Given the description of an element on the screen output the (x, y) to click on. 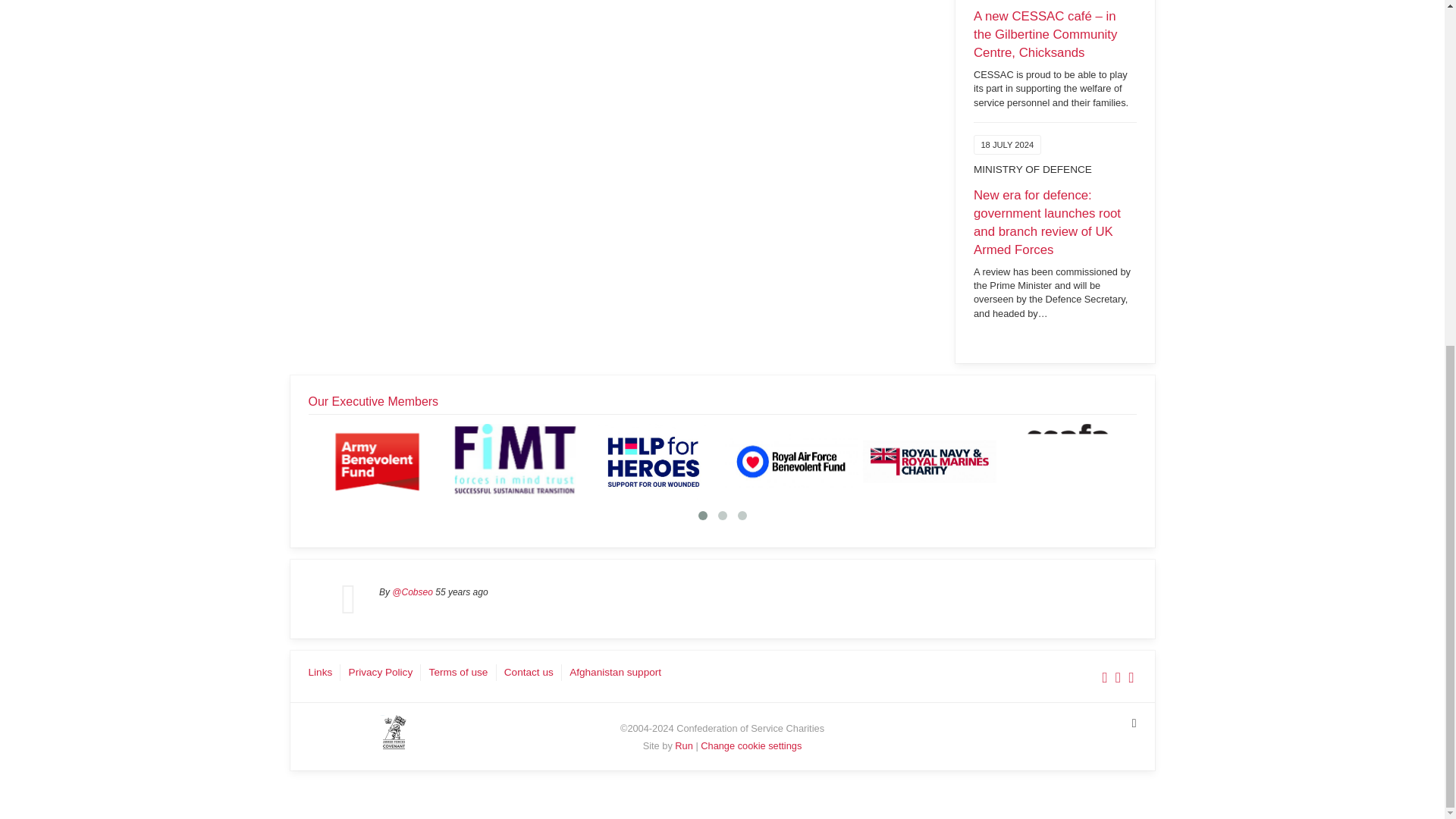
SSAFA (1067, 461)
Help for Heroes (653, 461)
RAF Benevolent Fund (792, 461)
Army Benevolent Fund (377, 461)
Forces in Mind Trust (515, 461)
Royal Navy and Royal Marines Charity (929, 461)
